Given the description of an element on the screen output the (x, y) to click on. 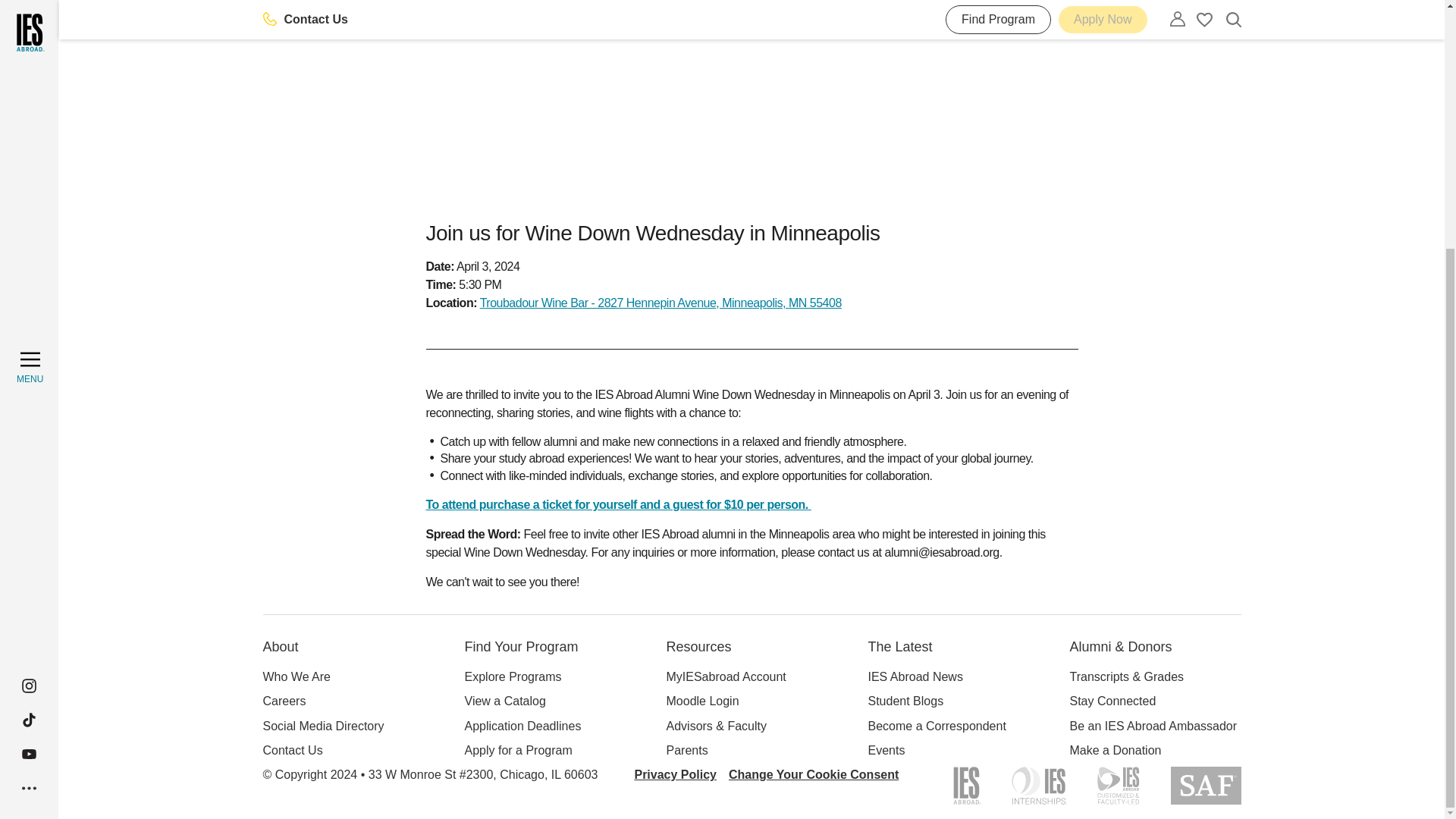
Happy Amy enjoys her wine (752, 102)
